Given the description of an element on the screen output the (x, y) to click on. 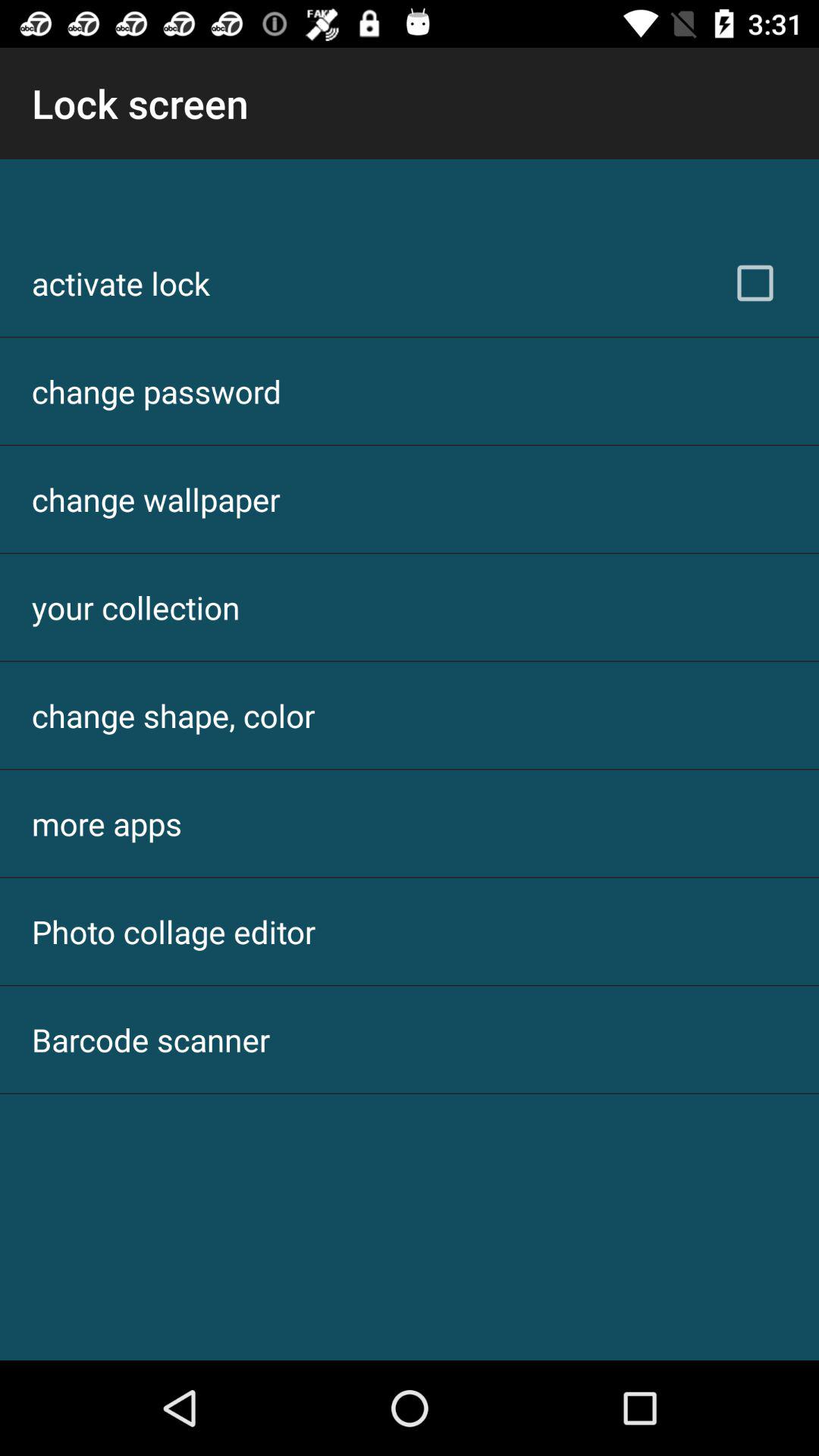
launch item above more apps item (173, 715)
